Given the description of an element on the screen output the (x, y) to click on. 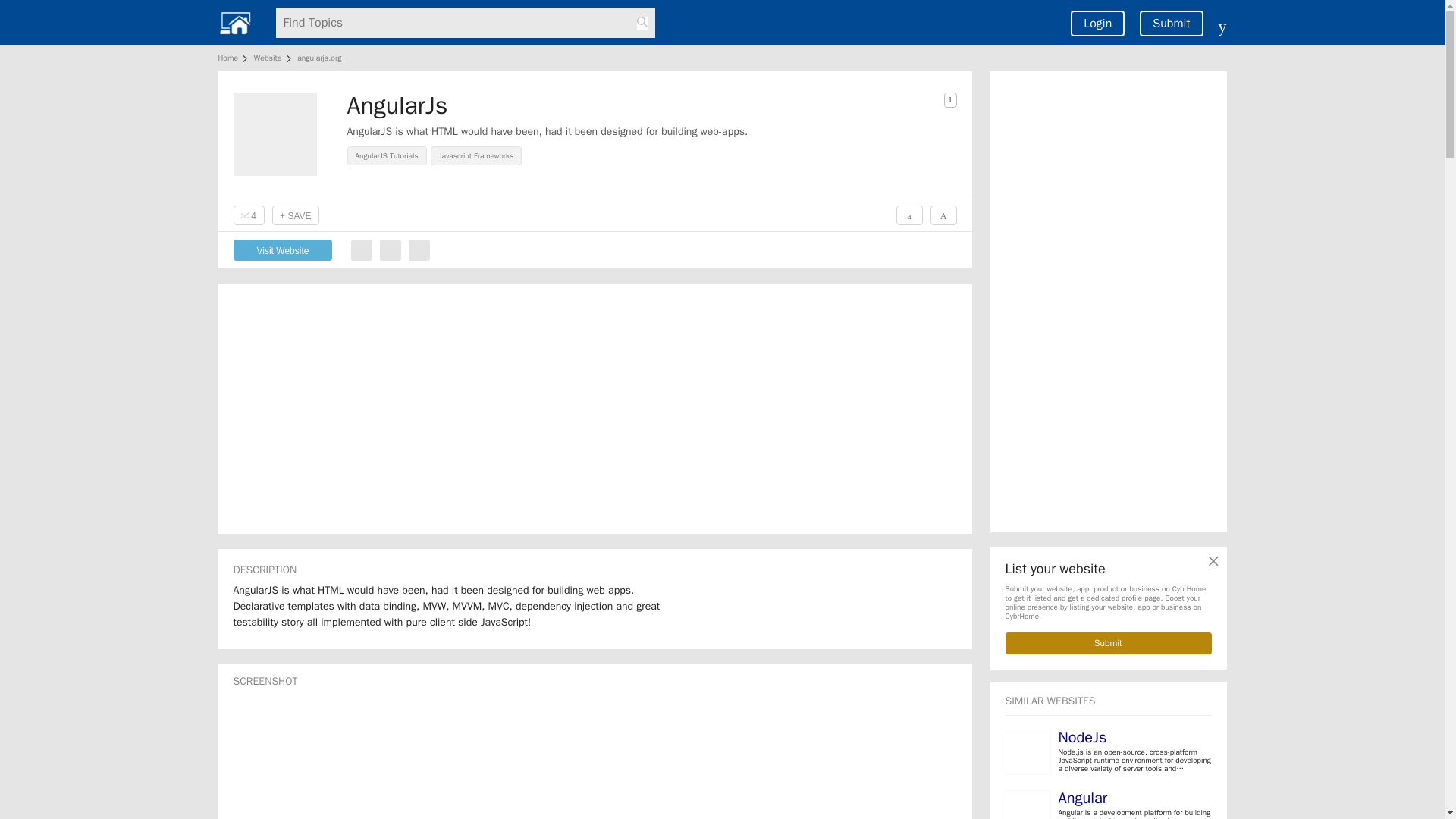
Github (389, 249)
NodeJs (1082, 737)
4 (248, 215)
Wikipedia (361, 249)
Google Plus (419, 249)
Submit (1171, 23)
Home (230, 57)
Visit Website (282, 250)
Submit (1108, 643)
